Given the description of an element on the screen output the (x, y) to click on. 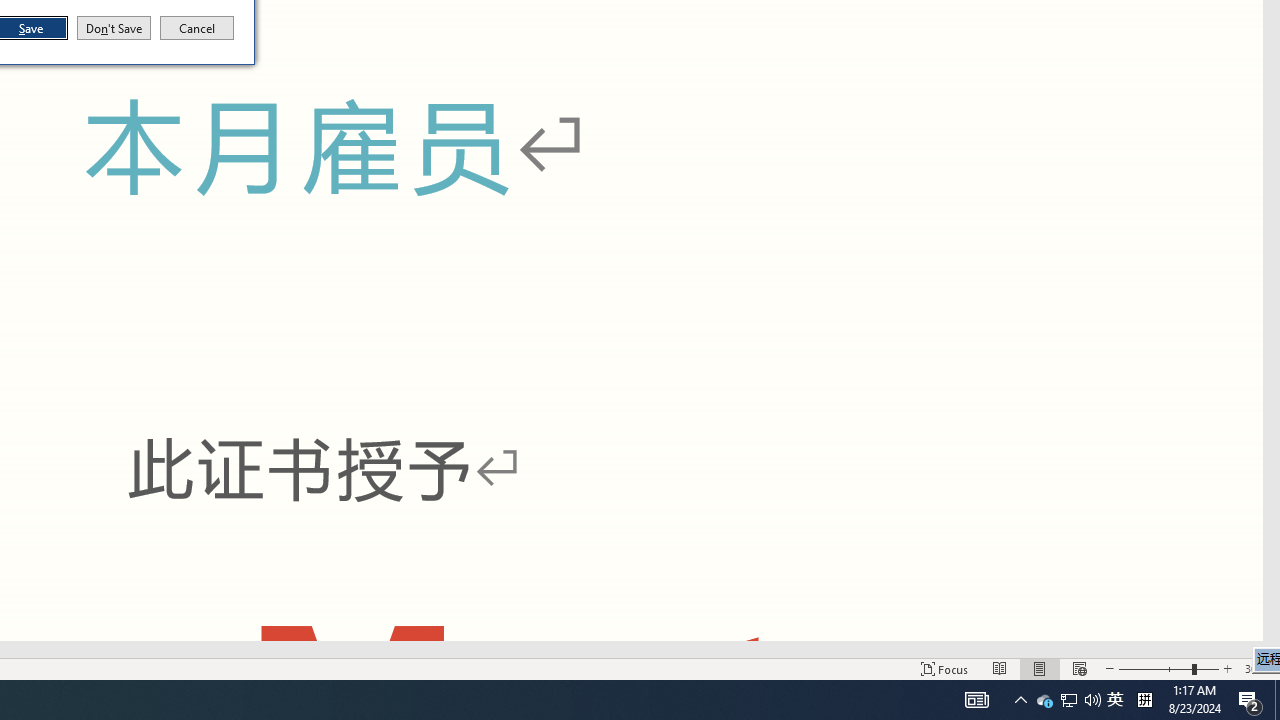
Don't Save (113, 27)
Tray Input Indicator - Chinese (Simplified, China) (1144, 699)
